Given the description of an element on the screen output the (x, y) to click on. 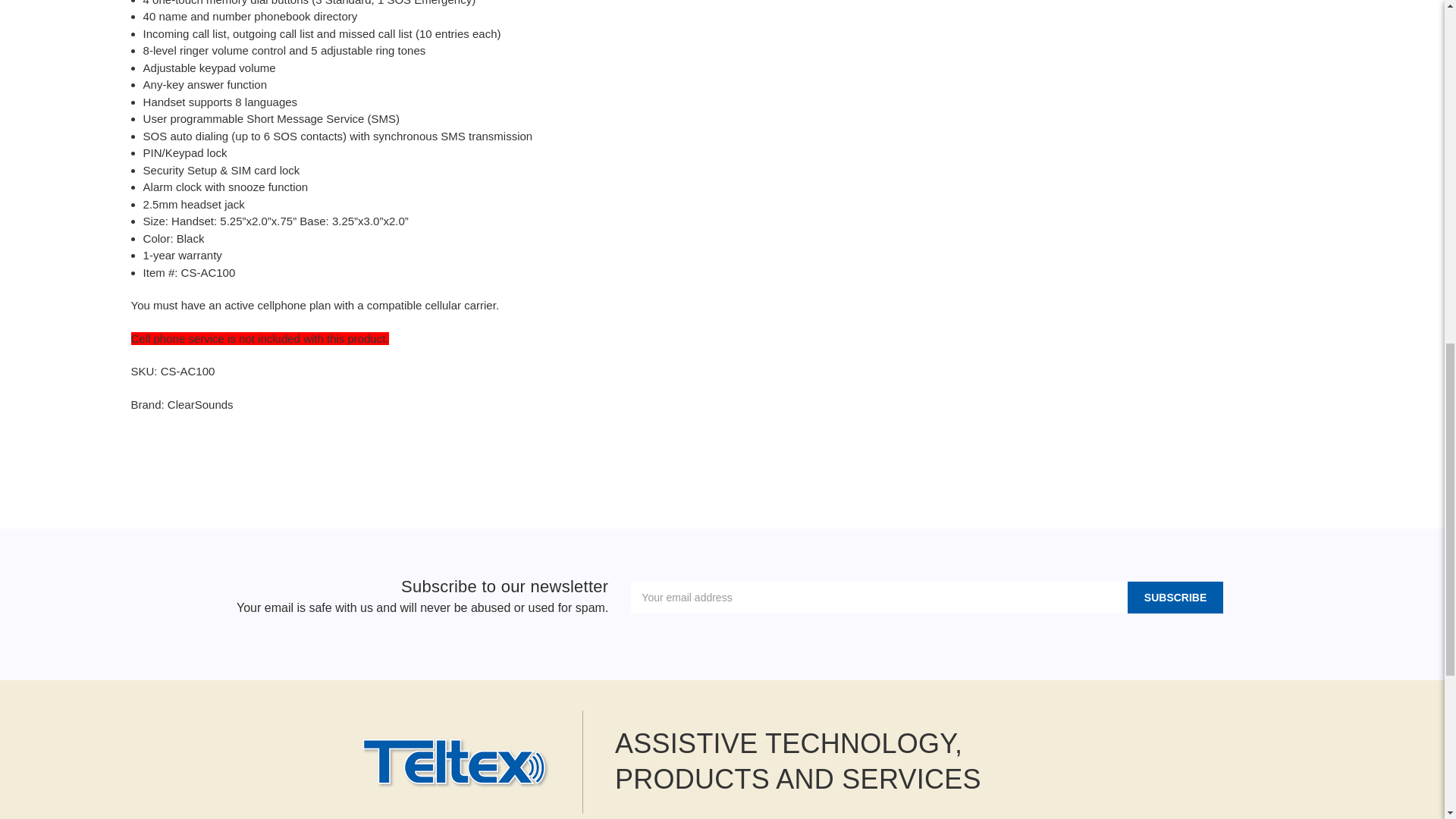
Email (693, 446)
Pinterest (775, 446)
Facebook (667, 446)
Twitter (746, 446)
Teltex, Inc. (455, 762)
Subscribe (1174, 597)
Print (720, 446)
